Given the description of an element on the screen output the (x, y) to click on. 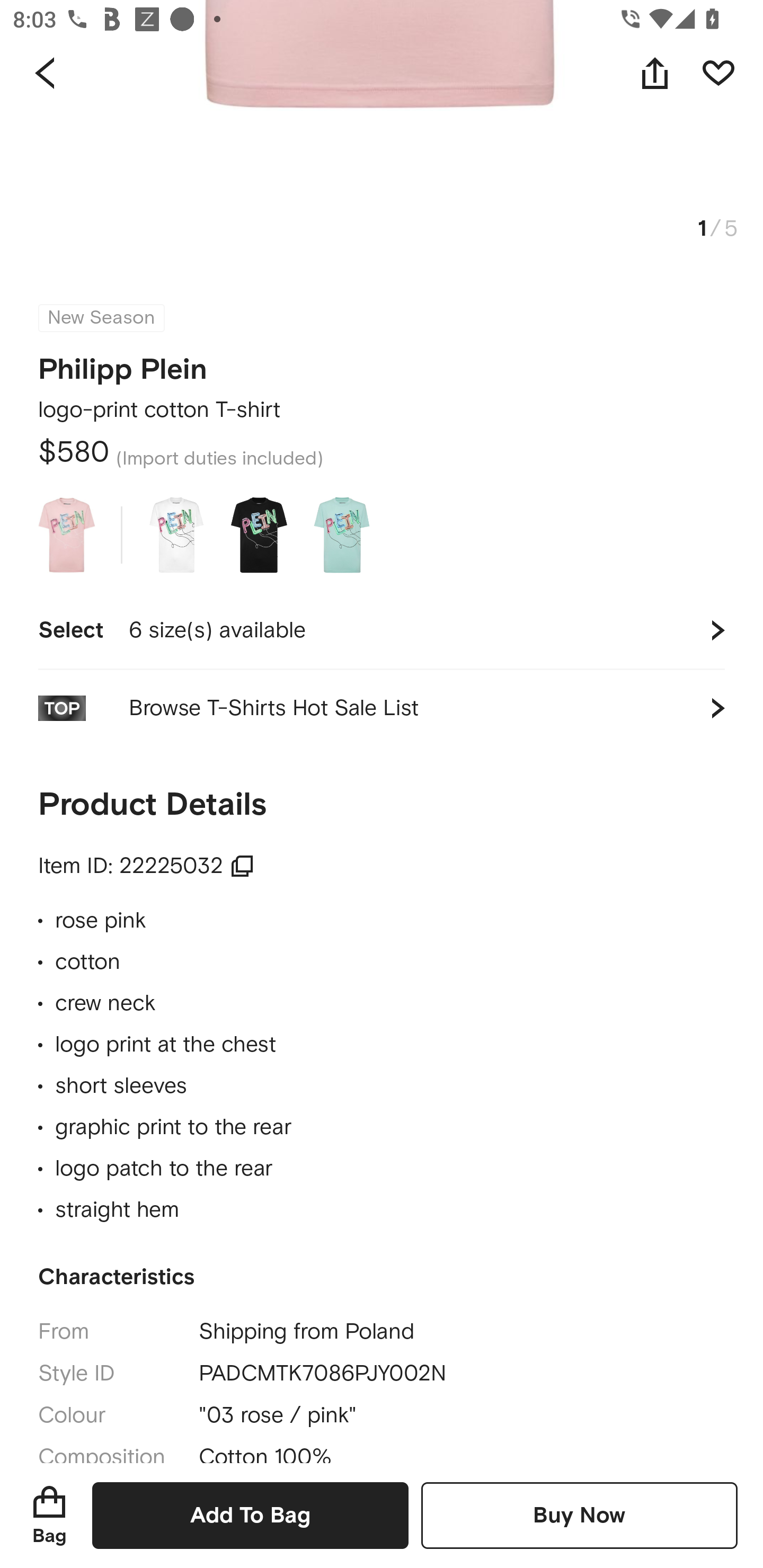
Philipp Plein (122, 363)
Select 6 size(s) available (381, 629)
Browse T-Shirts Hot Sale List (381, 707)
Item ID: 22225032 (146, 866)
Bag (49, 1515)
Add To Bag (250, 1515)
Buy Now (579, 1515)
